Given the description of an element on the screen output the (x, y) to click on. 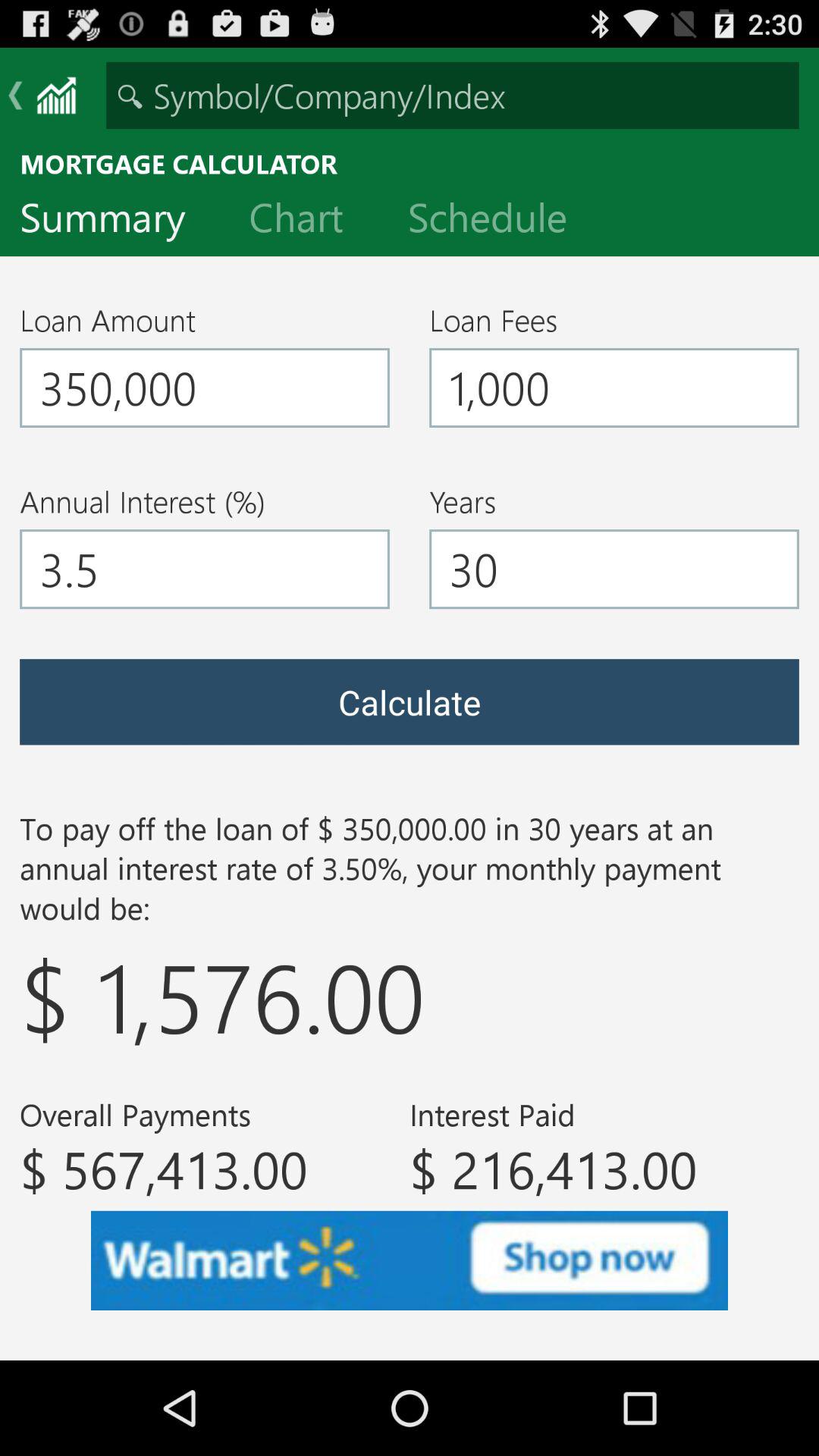
press the chart item (308, 220)
